Given the description of an element on the screen output the (x, y) to click on. 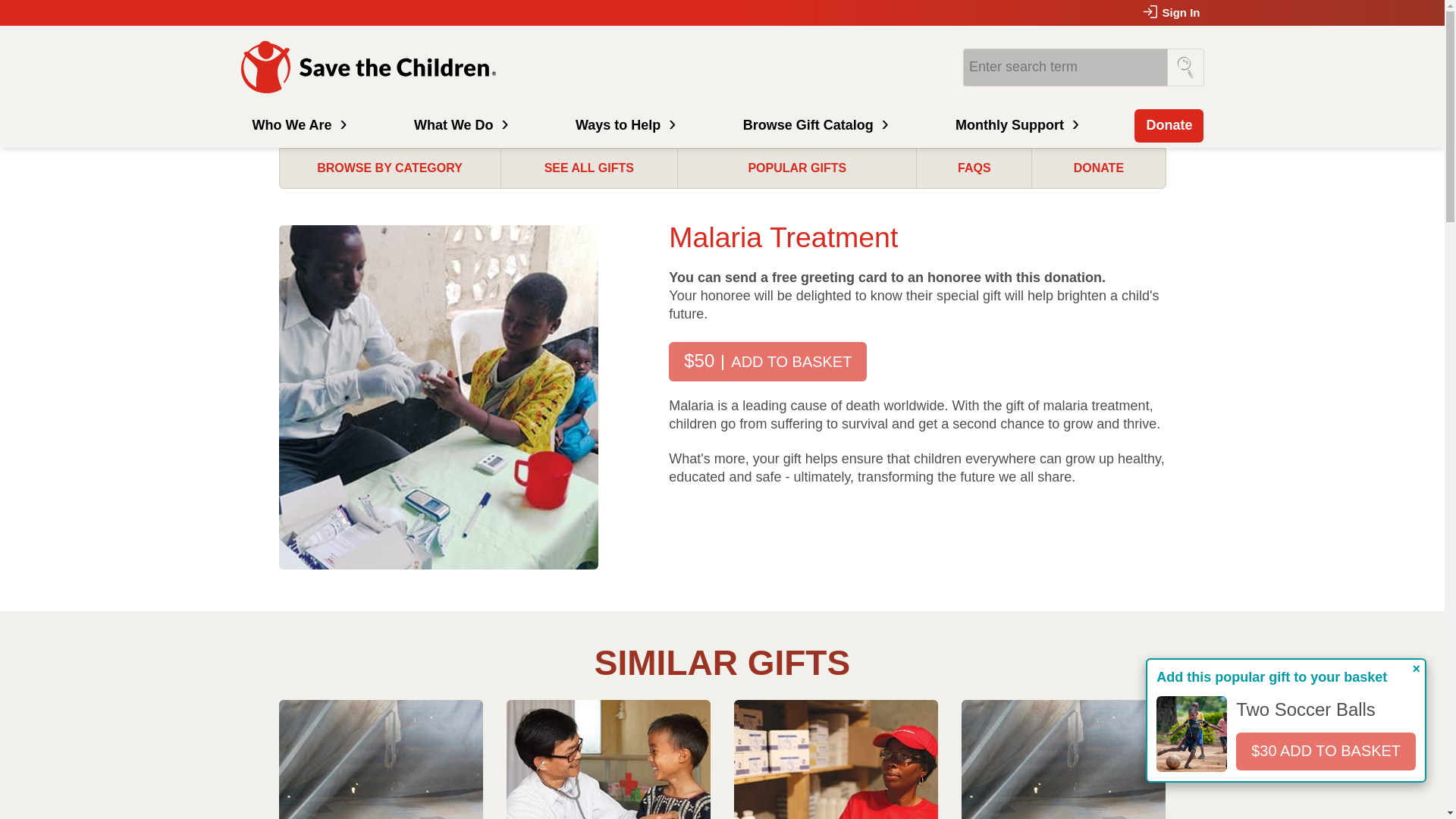
Click to view the homepage (370, 67)
Browse Gift Catalog (814, 125)
Ways to Help (623, 125)
Click here for more information about Stock a Medical Clinic (835, 759)
Click here for more information about Medical Care (608, 759)
What We Do (459, 125)
Click here for more information about Mosquito Nets (381, 759)
Sign In (1172, 12)
Monthly Support (1014, 125)
Who We Are (298, 125)
SEARCH (1185, 67)
